Given the description of an element on the screen output the (x, y) to click on. 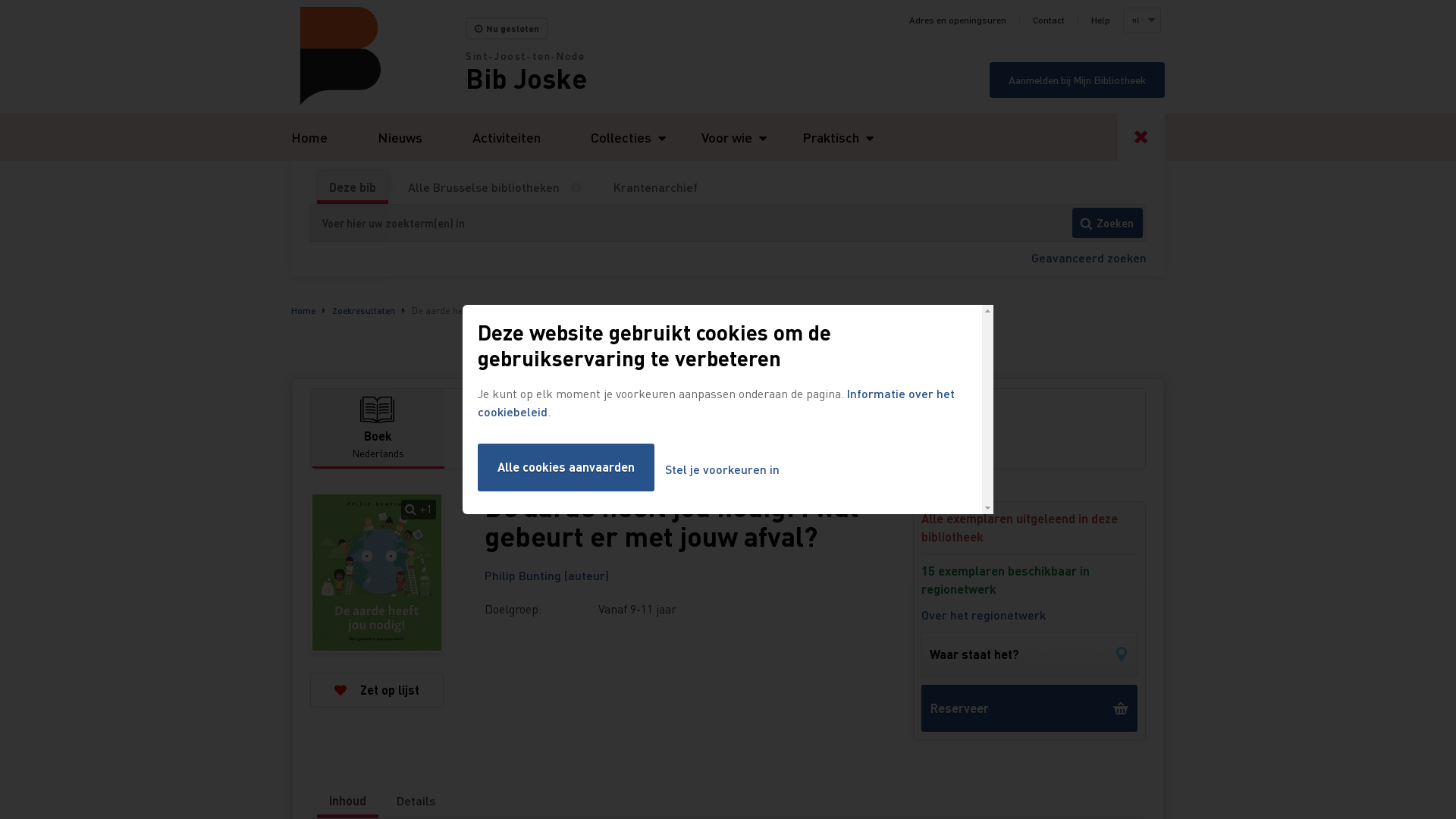
Inhoud Element type: text (347, 800)
Deze bib Element type: text (352, 186)
Details Element type: text (415, 800)
Adres en openingsuren Element type: text (957, 20)
Home Element type: text (303, 310)
Nu gesloten Element type: text (506, 28)
Toggle search Element type: hover (1140, 136)
Waar staat het? Element type: text (1029, 654)
Stel je voorkeuren in Element type: text (722, 469)
Krantenarchief Element type: text (655, 186)
Aanmelden bij Mijn Bibliotheek Element type: text (1076, 79)
Overslaan en naar zoeken gaan Element type: text (0, 0)
Activiteiten Element type: text (506, 136)
Over het regionetwerk Element type: text (983, 614)
Reserveer Element type: text (1029, 707)
nl Element type: text (1140, 20)
Philip Bunting (auteur) Element type: text (546, 575)
Meer informatie Element type: hover (582, 186)
Zoekresultaten Element type: text (363, 310)
Geavanceerd zoeken Element type: text (1088, 257)
Informatie over het cookiebeleid Element type: text (715, 402)
Alle Brusselse bibliotheken Element type: text (483, 186)
Home Element type: text (309, 136)
Home Element type: hover (378, 55)
Contact Element type: text (1048, 20)
Zet op lijst Element type: text (376, 689)
Alle cookies aanvaarden Element type: text (565, 466)
Help Element type: text (1100, 20)
Zoeken Element type: text (1107, 222)
Nieuws Element type: text (399, 136)
